Given the description of an element on the screen output the (x, y) to click on. 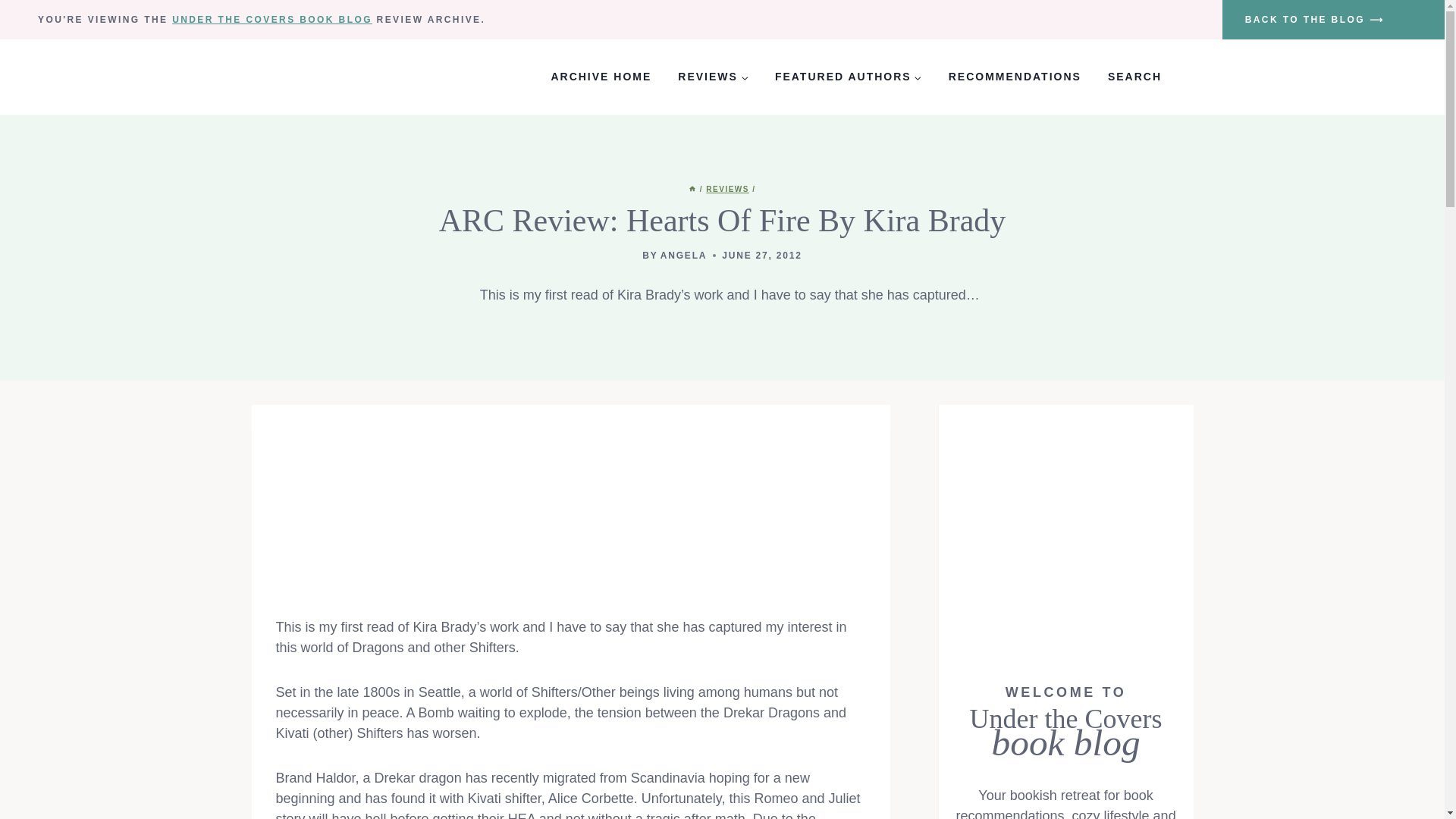
FEATURED AUTHORS (847, 77)
UNDER THE COVERS BOOK BLOG (271, 19)
ARCHIVE HOME (601, 77)
RECOMMENDATIONS (1014, 77)
ANGELA (683, 255)
Home (691, 189)
REVIEWS (727, 189)
SEARCH (1134, 77)
REVIEWS (713, 77)
